Given the description of an element on the screen output the (x, y) to click on. 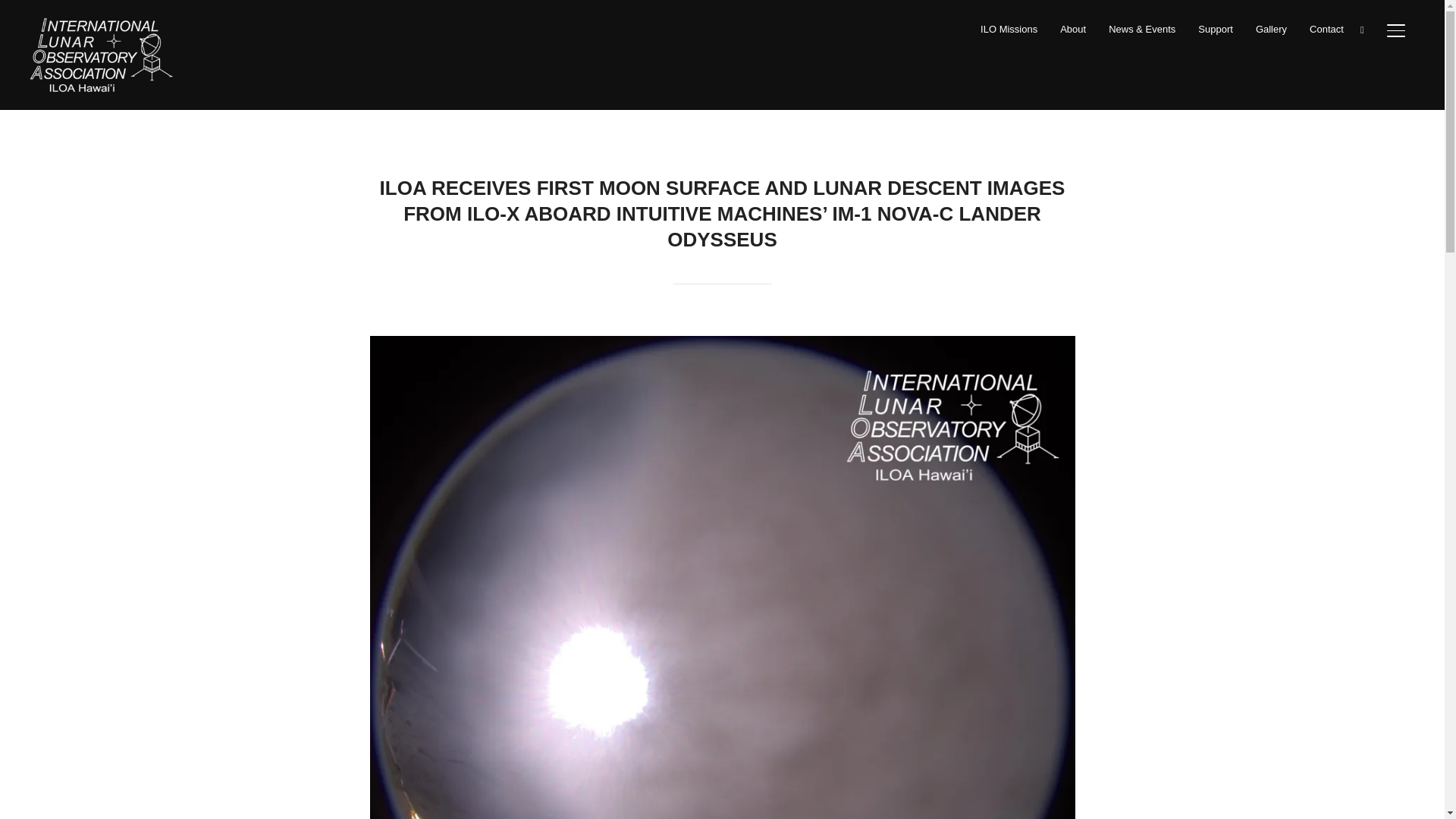
About (1072, 29)
Search (15, 15)
ILO Missions (1007, 29)
Contact (1325, 29)
Gallery (1271, 29)
Support (1215, 29)
